Given the description of an element on the screen output the (x, y) to click on. 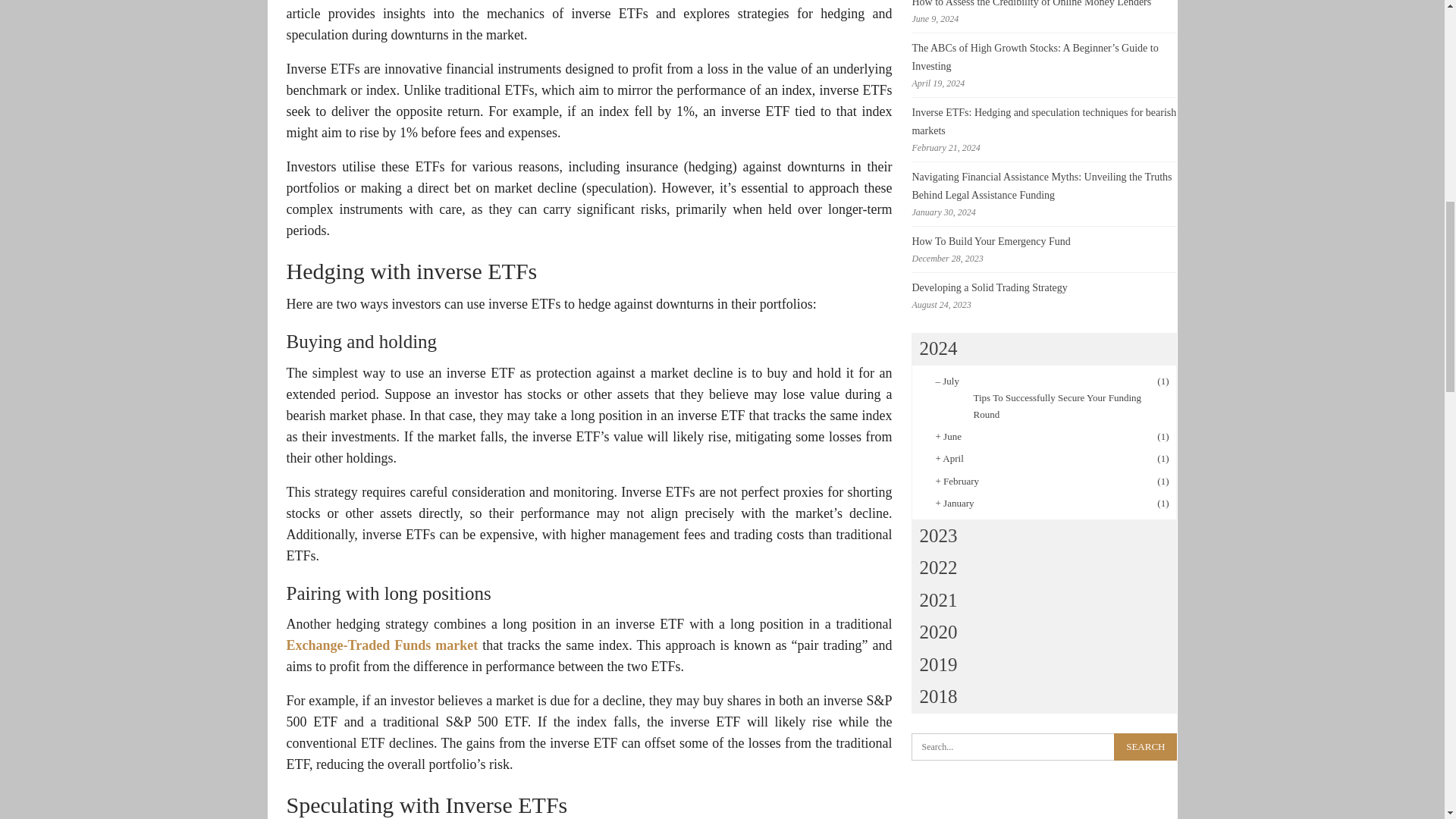
Search (1144, 746)
Exchange-Traded Funds market (382, 645)
Search (1144, 746)
